Given the description of an element on the screen output the (x, y) to click on. 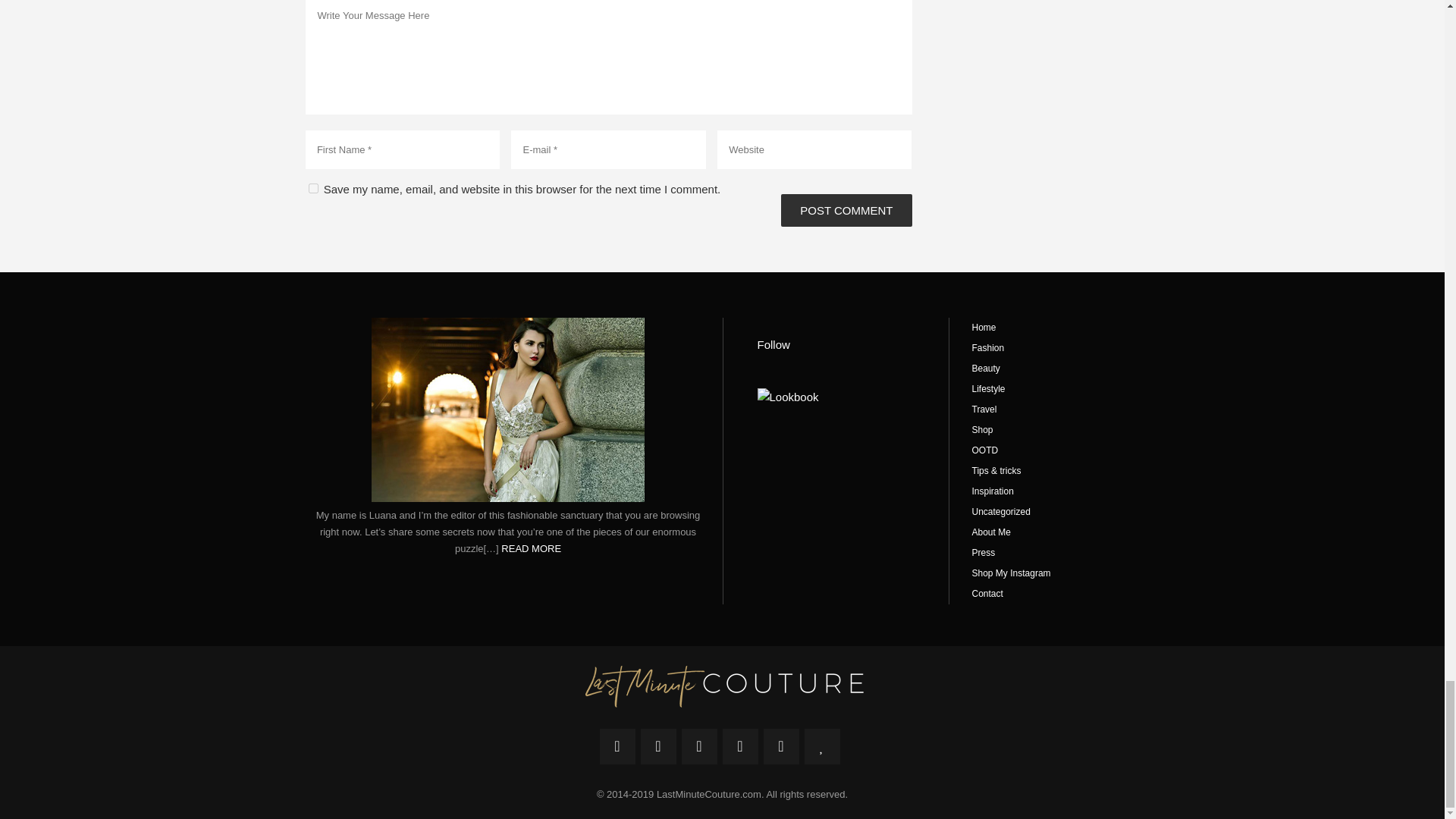
yes (312, 188)
POST COMMENT (845, 210)
